Given the description of an element on the screen output the (x, y) to click on. 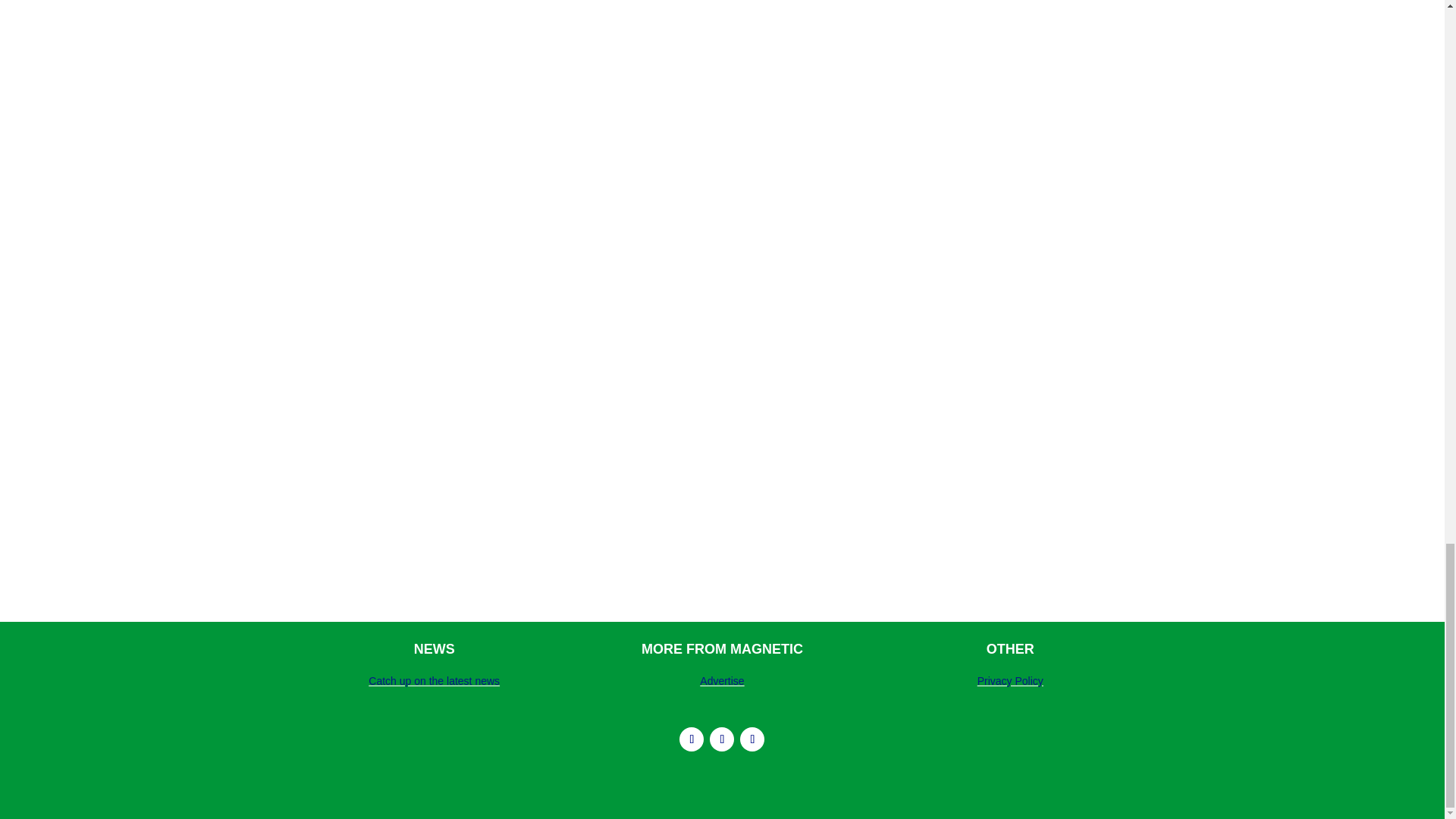
Catch up on the latest news (433, 680)
Privacy Policy (1009, 680)
NEWS (433, 648)
Follow on Instagram (691, 739)
Advertise (722, 680)
Follow on Facebook (751, 739)
Follow on LinkedIn (721, 739)
